Given the description of an element on the screen output the (x, y) to click on. 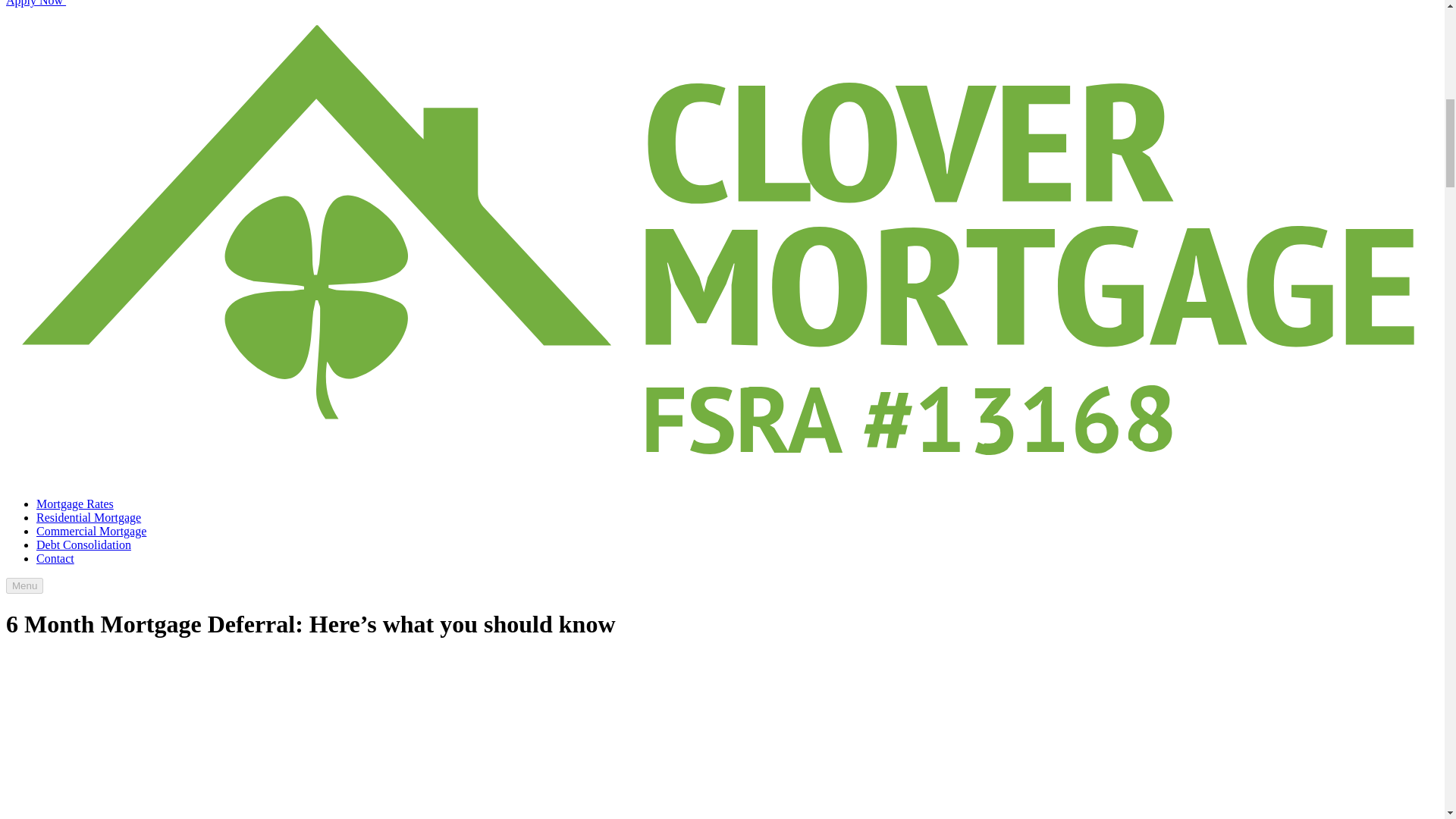
Menu (24, 585)
Residential Mortgage (88, 517)
Commercial Mortgage (91, 530)
Contact (55, 558)
Apply Now (149, 3)
Mortgage Rates (74, 503)
Debt Consolidation (83, 544)
